Given the description of an element on the screen output the (x, y) to click on. 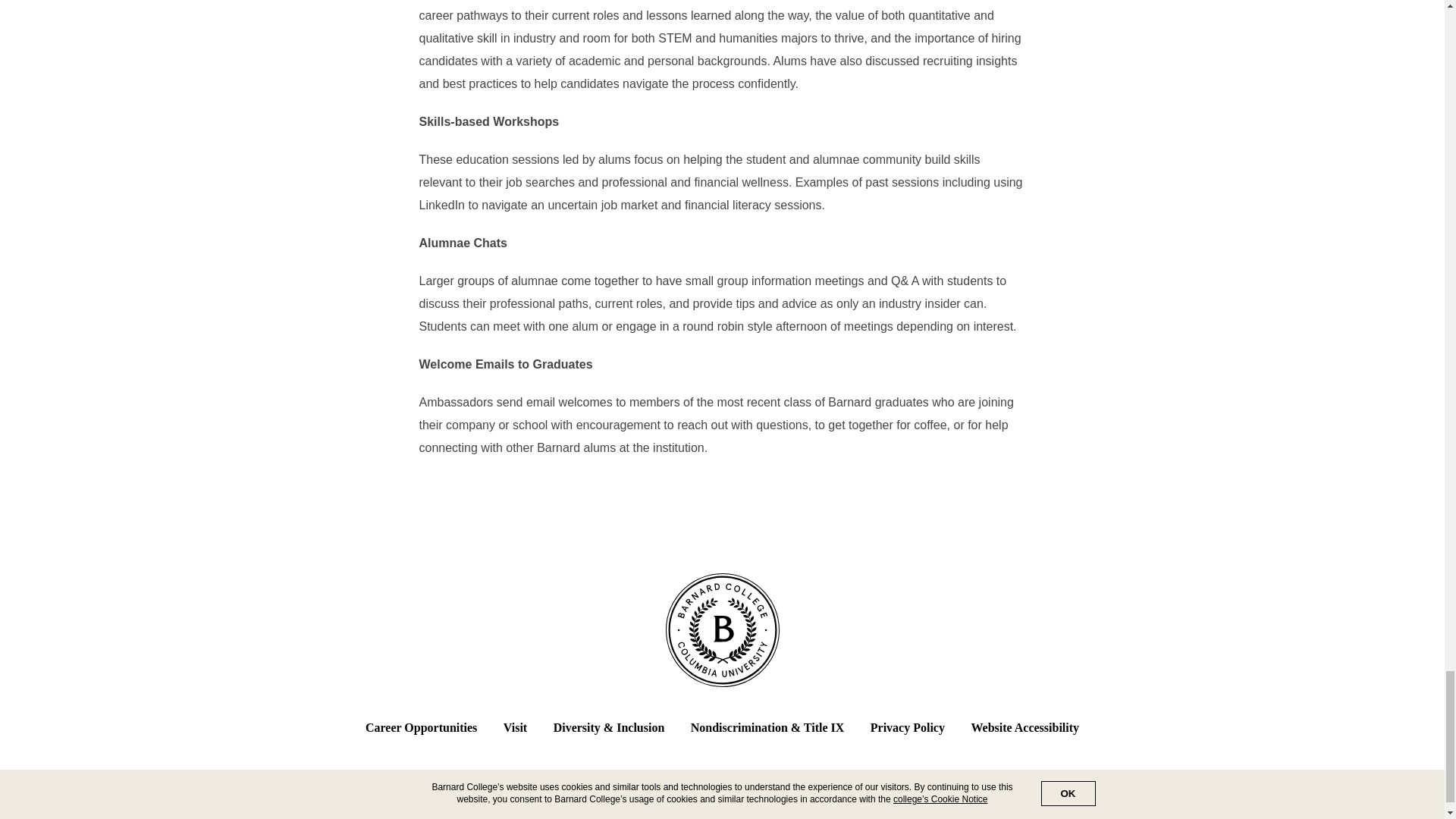
Privacy Policy (907, 727)
